Given the description of an element on the screen output the (x, y) to click on. 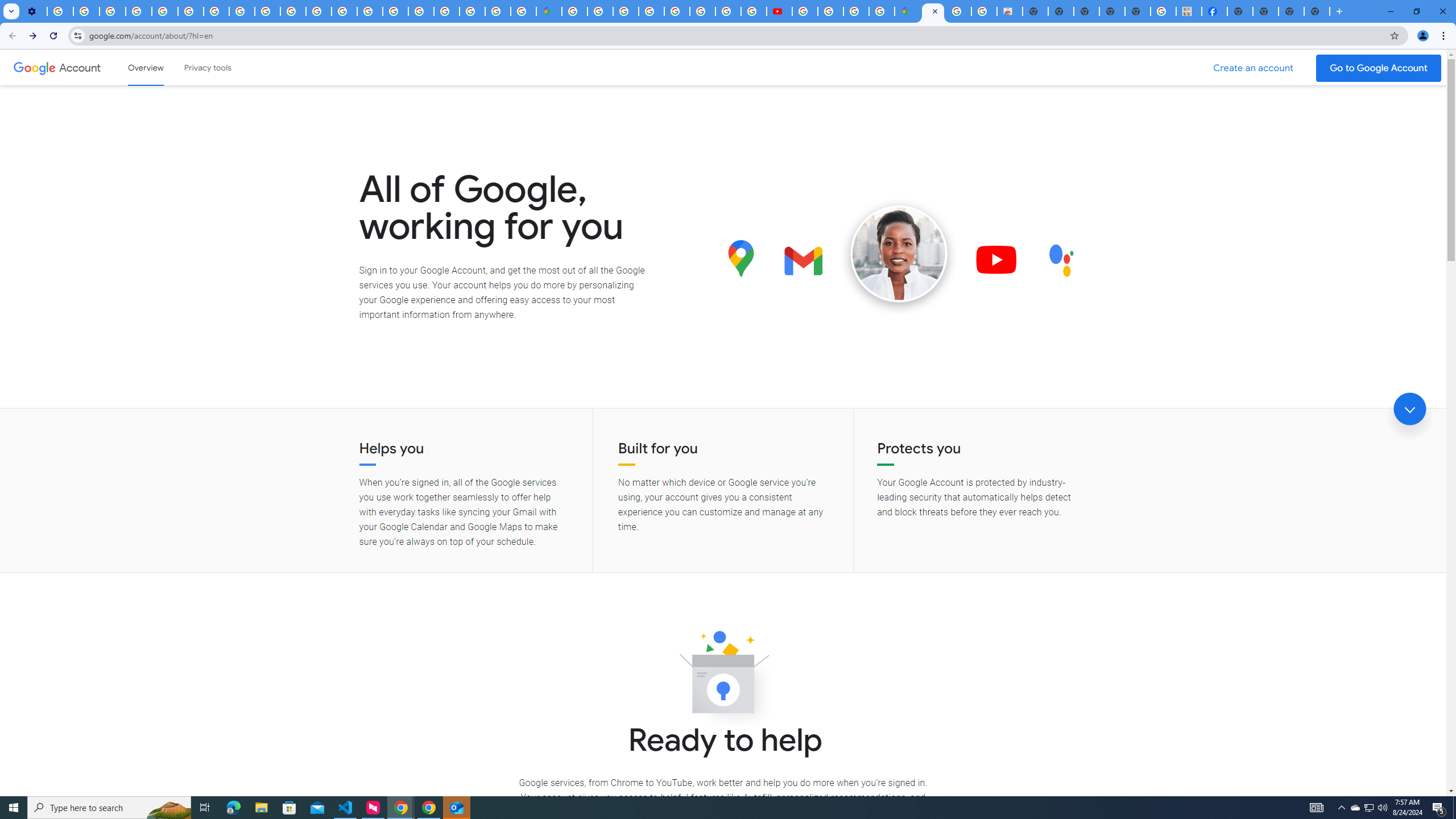
MILEY CYRUS. (1188, 11)
Google Maps (548, 11)
Privacy Help Center - Policies Help (165, 11)
New Tab (1239, 11)
Settings - Customize profile (34, 11)
Sign in - Google Accounts (446, 11)
Privacy Help Center - Policies Help (727, 11)
Sign in - Google Accounts (600, 11)
Chrome Web Store - Shopping (1009, 11)
